Given the description of an element on the screen output the (x, y) to click on. 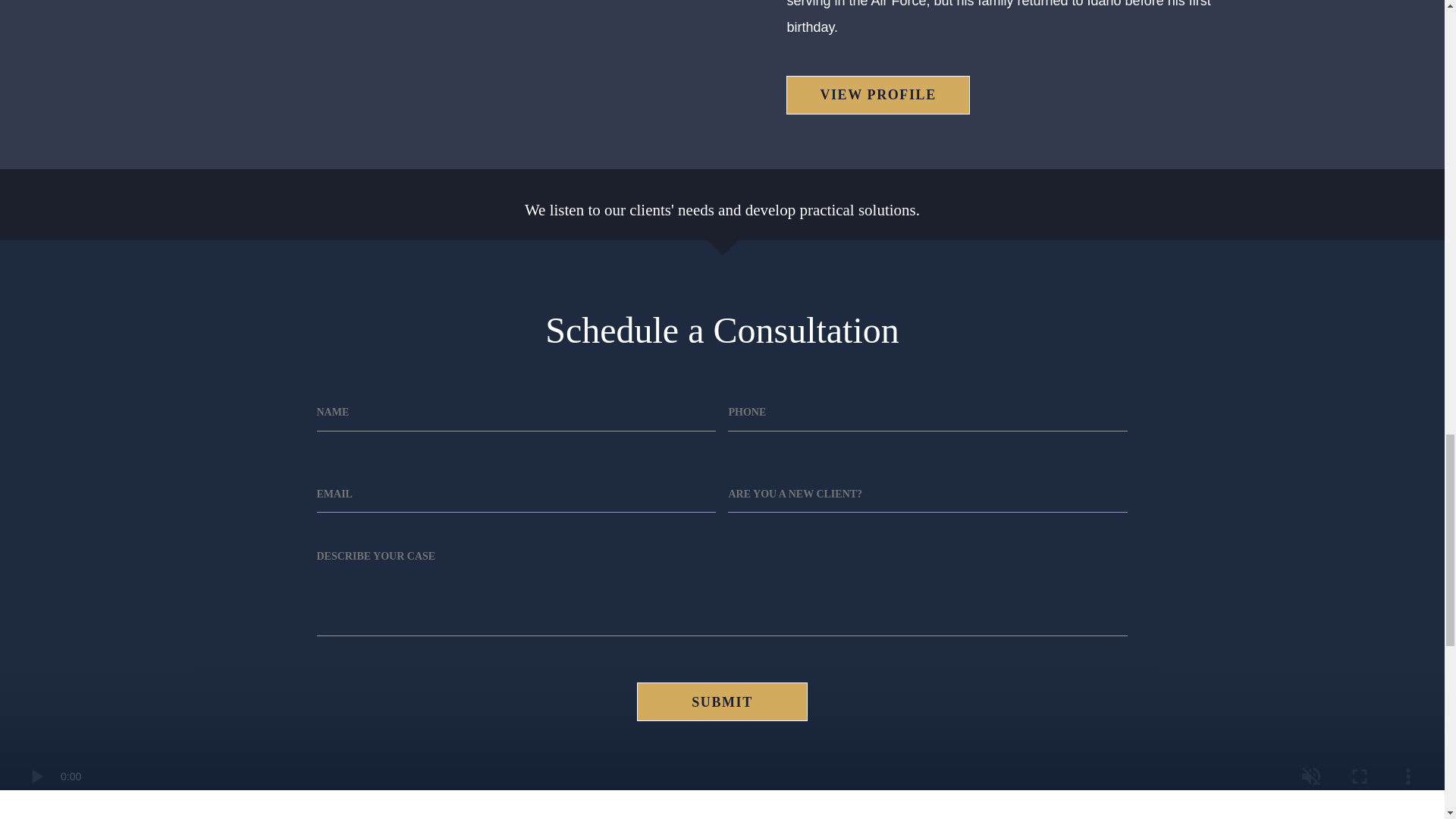
VIEW PROFILE (877, 95)
Submit (722, 701)
Submit (722, 701)
